Given the description of an element on the screen output the (x, y) to click on. 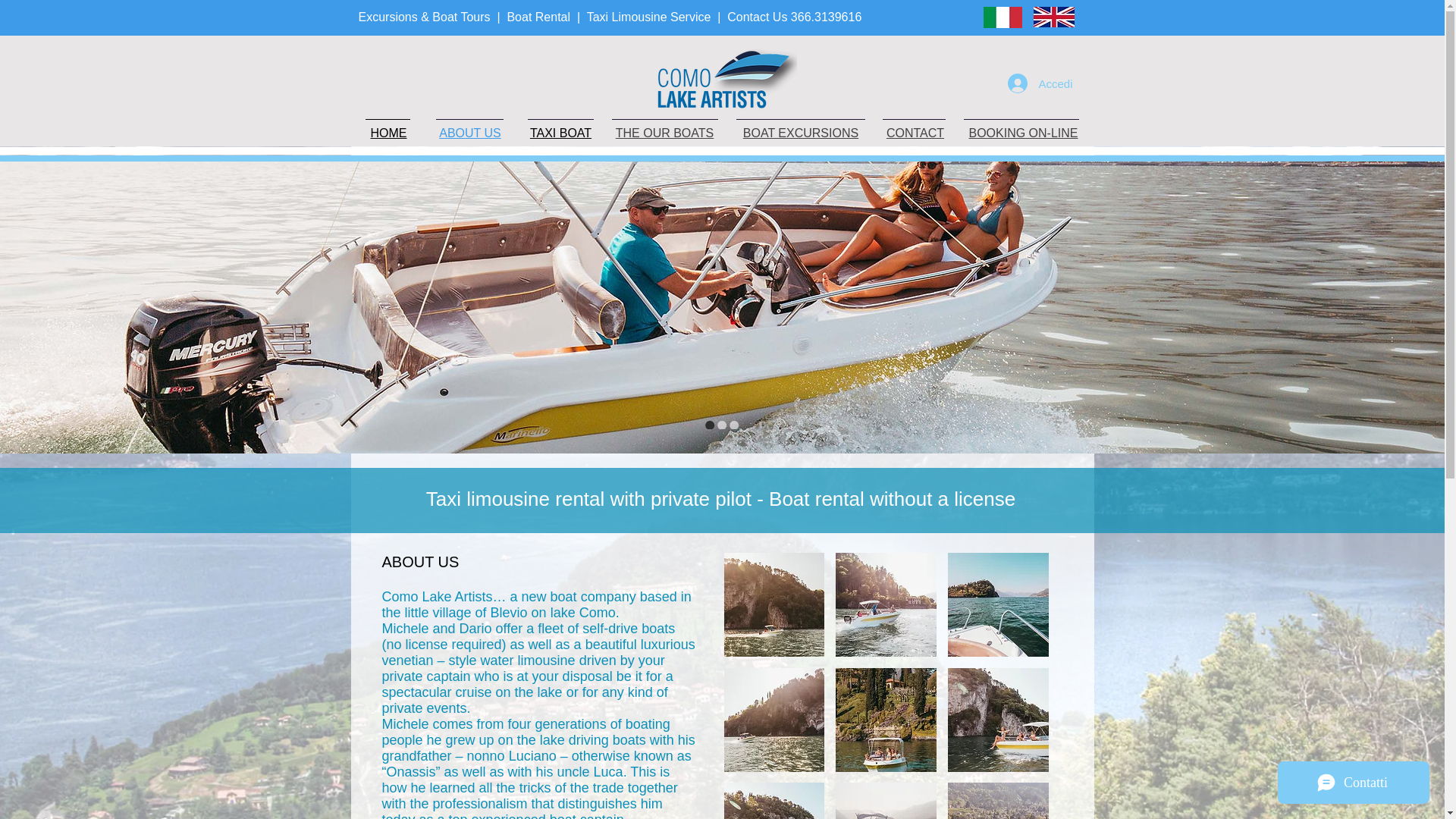
TAXI BOAT (560, 132)
THE OUR BOATS (664, 132)
Accedi (1040, 82)
ABOUT US (469, 132)
HOME (387, 132)
BOAT EXCURSIONS (800, 132)
BOOKING ON-LINE (1022, 132)
CONTACT (914, 132)
